Given the description of an element on the screen output the (x, y) to click on. 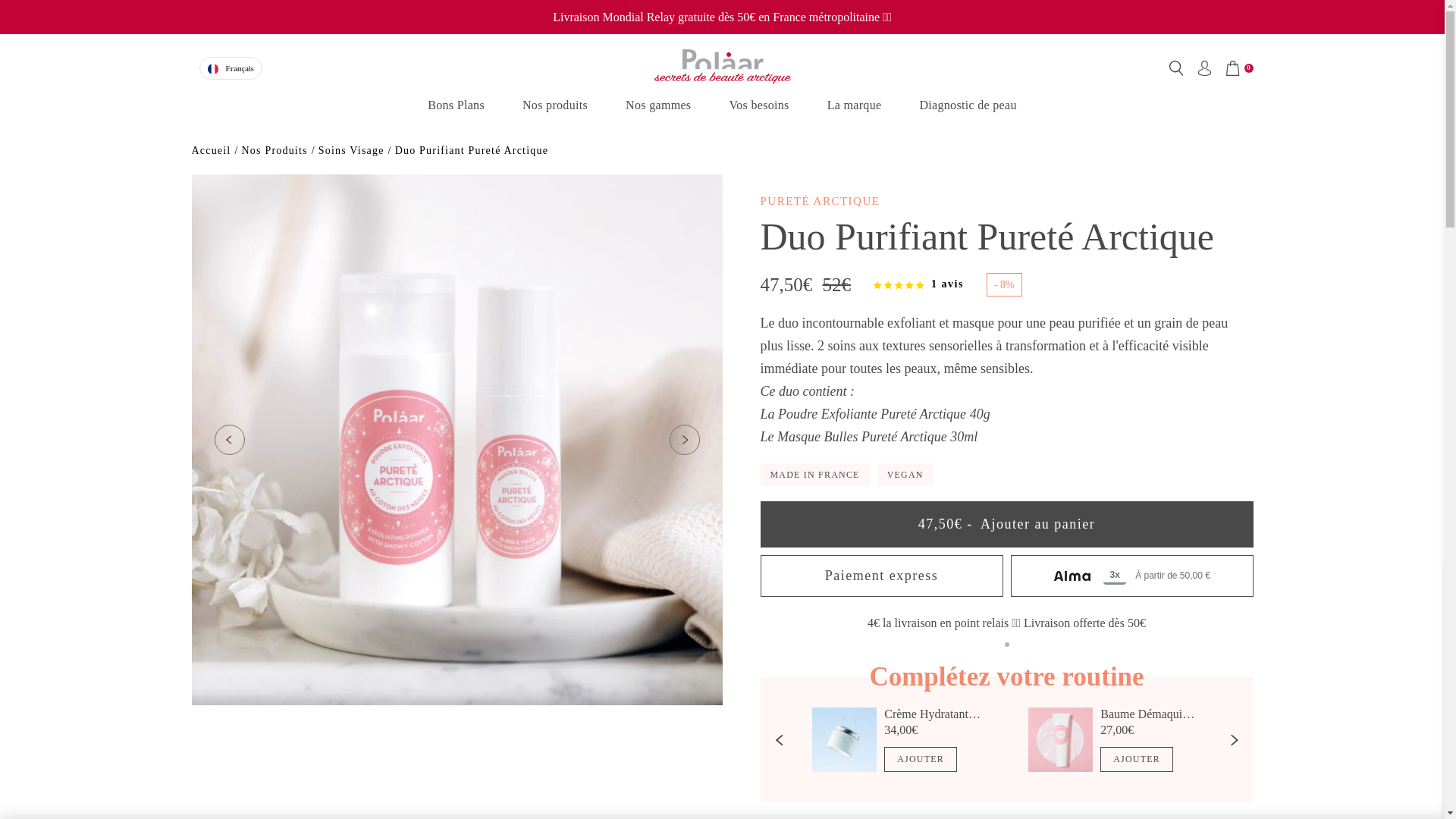
Vos besoins (759, 105)
poudre exfoliante (871, 413)
Nos gammes (658, 105)
Bons Plans (456, 105)
masque bulles (862, 436)
Accueil (210, 150)
Nos produits (555, 105)
